Given the description of an element on the screen output the (x, y) to click on. 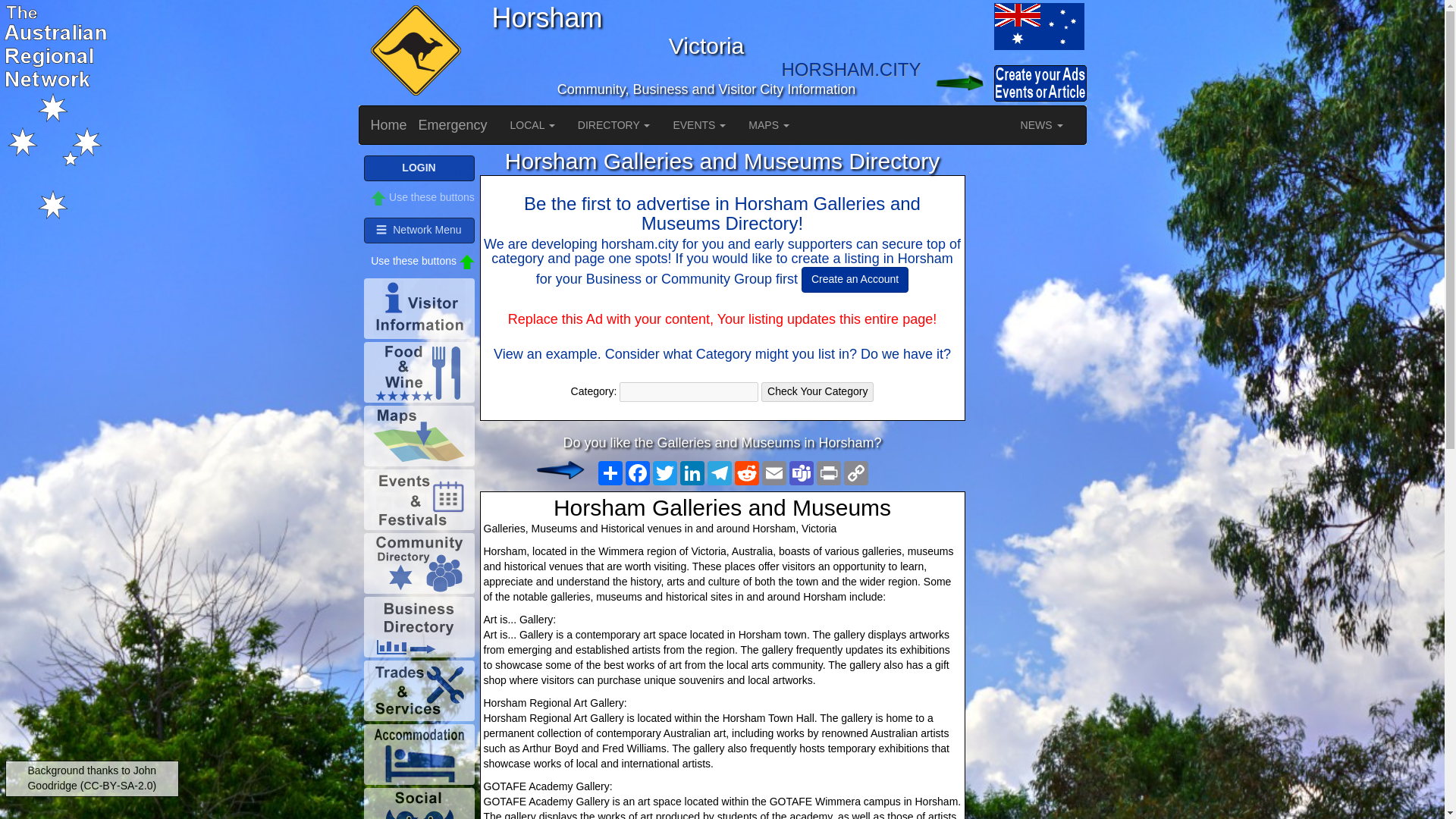
LOCAL (532, 125)
Login to horsham.city (956, 83)
Horsham Australia (1037, 26)
Emergency (453, 125)
Australia (956, 26)
DIRECTORY (614, 125)
Horsham Skippycoin ICG (413, 52)
Please like our Page (548, 470)
Home (389, 125)
Check Your Category (817, 392)
